Given the description of an element on the screen output the (x, y) to click on. 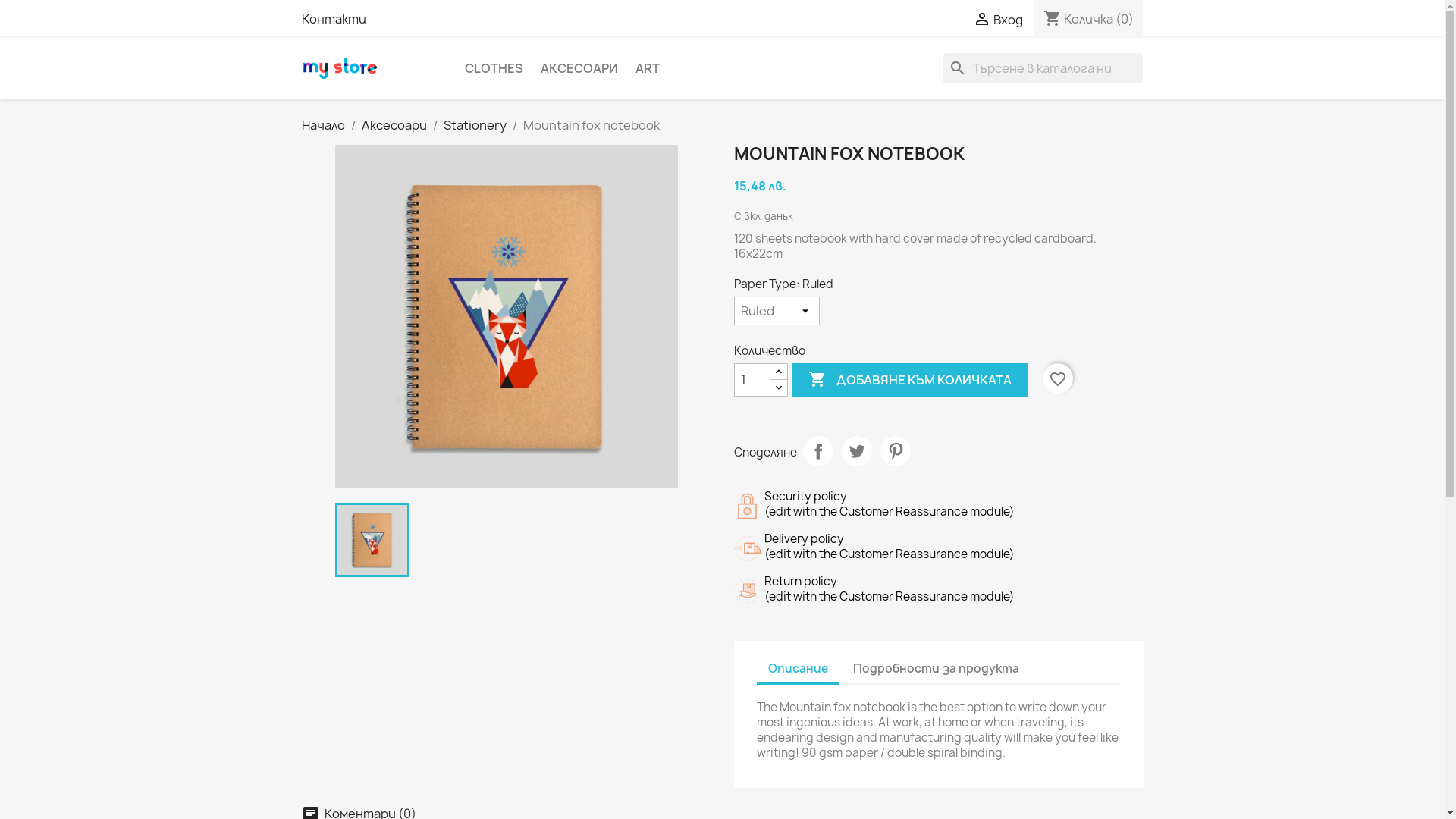
favorite_border Element type: text (1057, 378)
CLOTHES Element type: text (493, 68)
Mountain fox notebook Element type: hover (506, 315)
Mountain fox notebook Element type: hover (372, 539)
Stationery Element type: text (473, 124)
ART Element type: text (647, 68)
Pinterest Element type: text (894, 451)
Tweet Element type: text (856, 451)
